Given the description of an element on the screen output the (x, y) to click on. 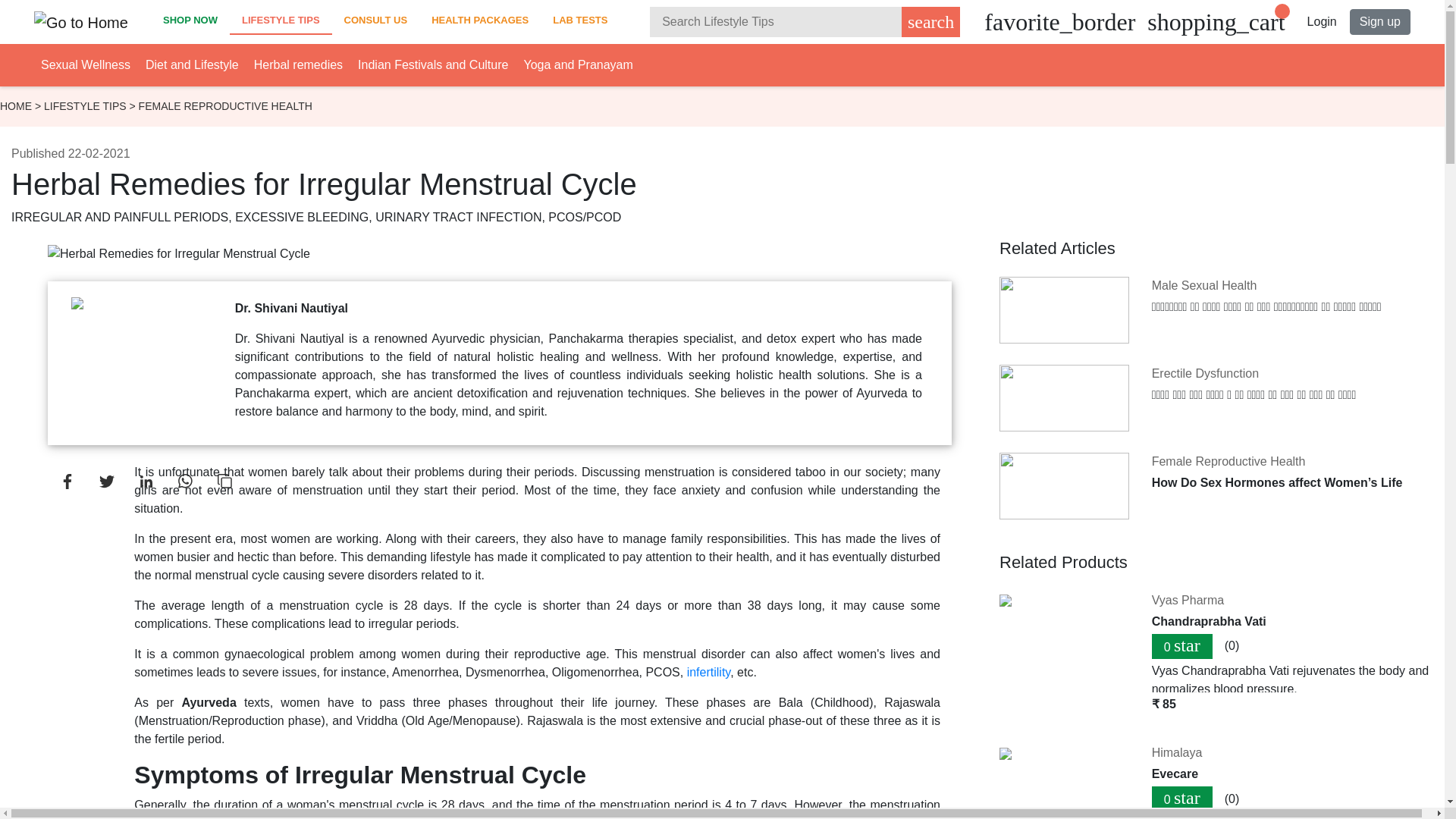
Diet and Lifestyle (191, 64)
Indian Festivals and Culture (433, 64)
search (930, 21)
Herbal remedies (297, 64)
Sign up (1379, 22)
Sexual Wellness (85, 64)
infertility (708, 671)
Yoga and Pranayam (576, 64)
Login (1321, 22)
